Given the description of an element on the screen output the (x, y) to click on. 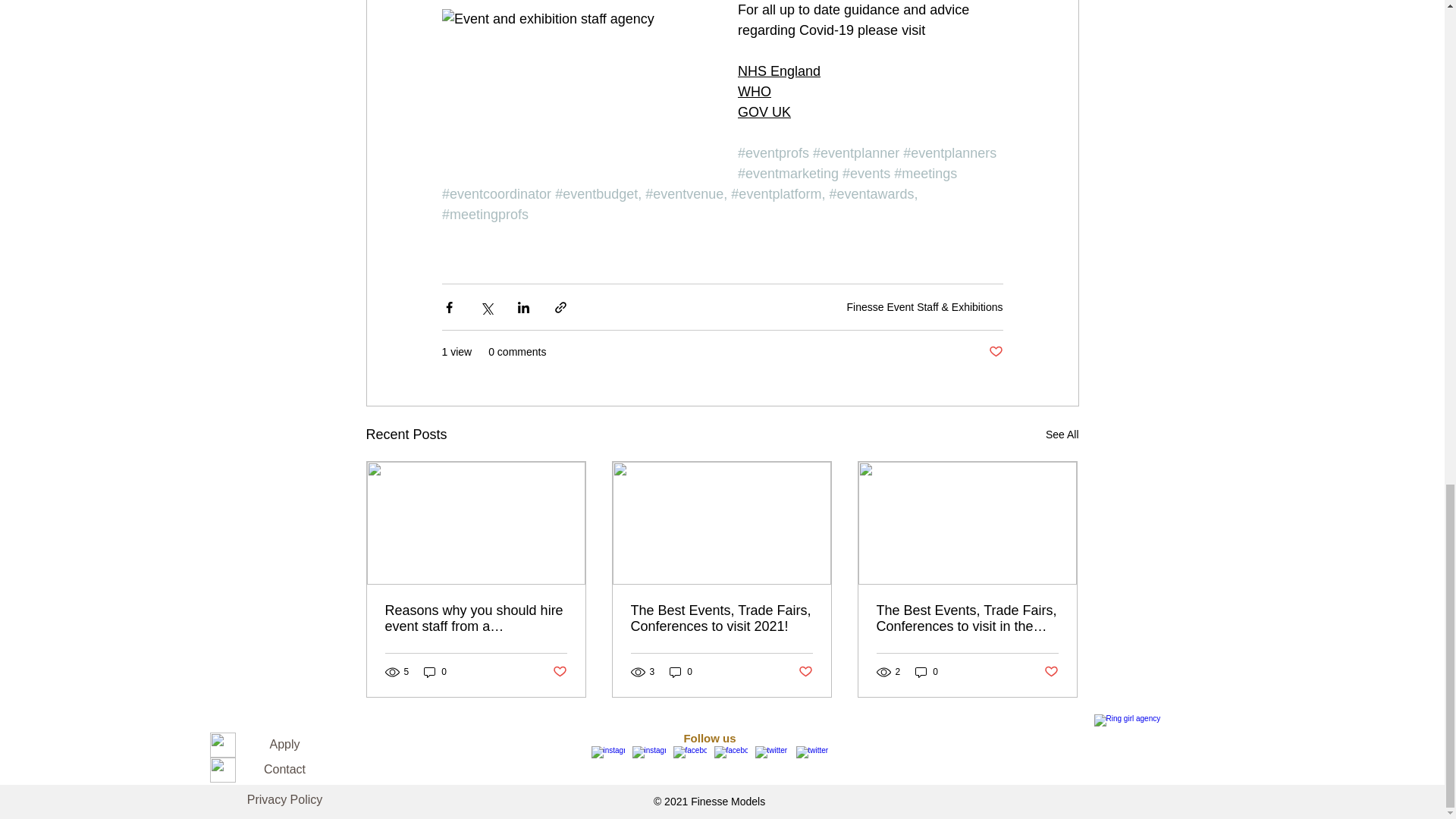
GOV (751, 111)
Finesse Models (1147, 762)
Send email (221, 769)
WHO (753, 91)
NHS England (777, 70)
Call us (221, 744)
